Given the description of an element on the screen output the (x, y) to click on. 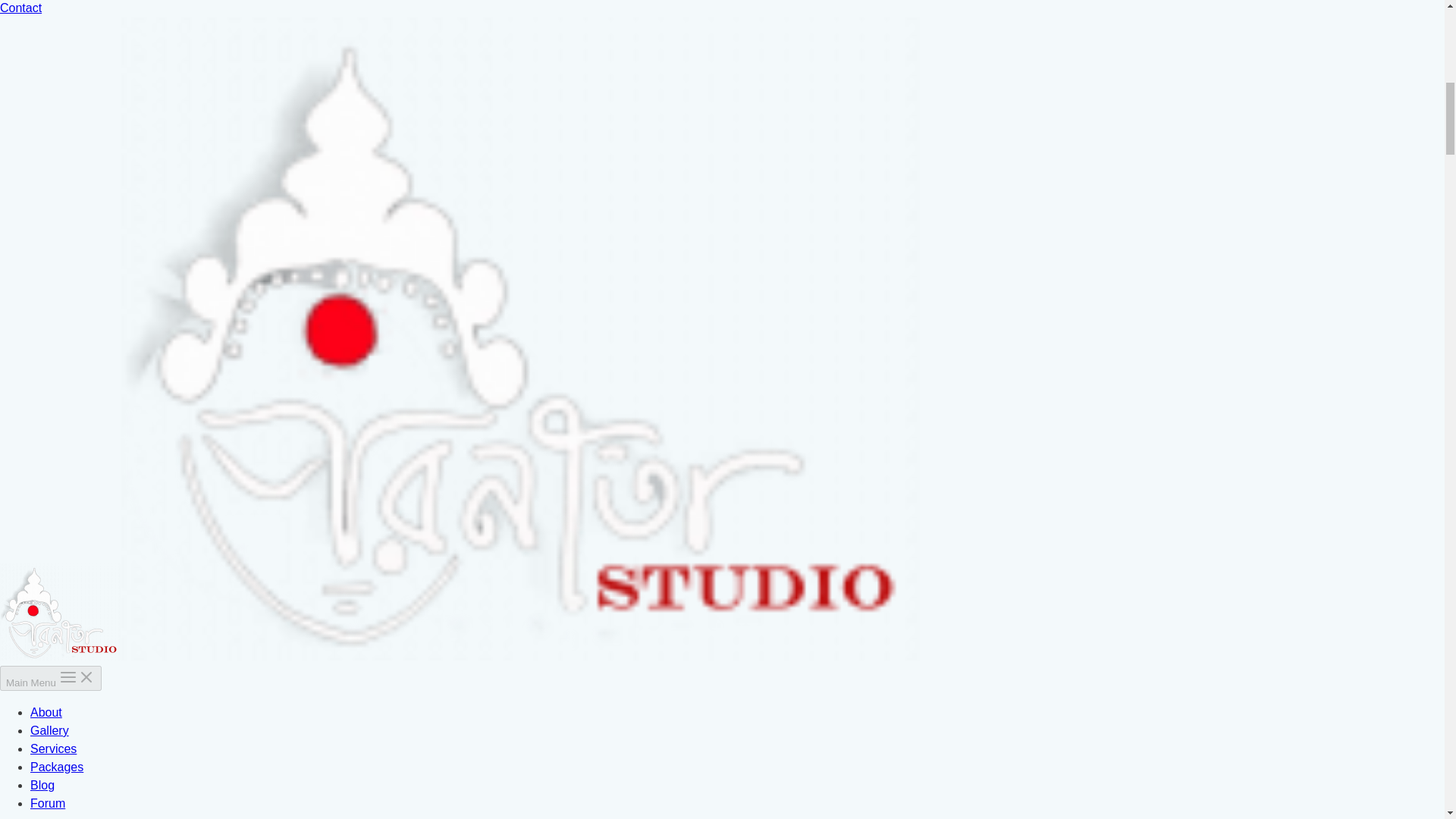
Main Menu (50, 678)
Contact (21, 7)
Gallery (49, 730)
Forum (47, 802)
Blog (42, 784)
Services (53, 748)
Packages (56, 766)
About (46, 712)
